Given the description of an element on the screen output the (x, y) to click on. 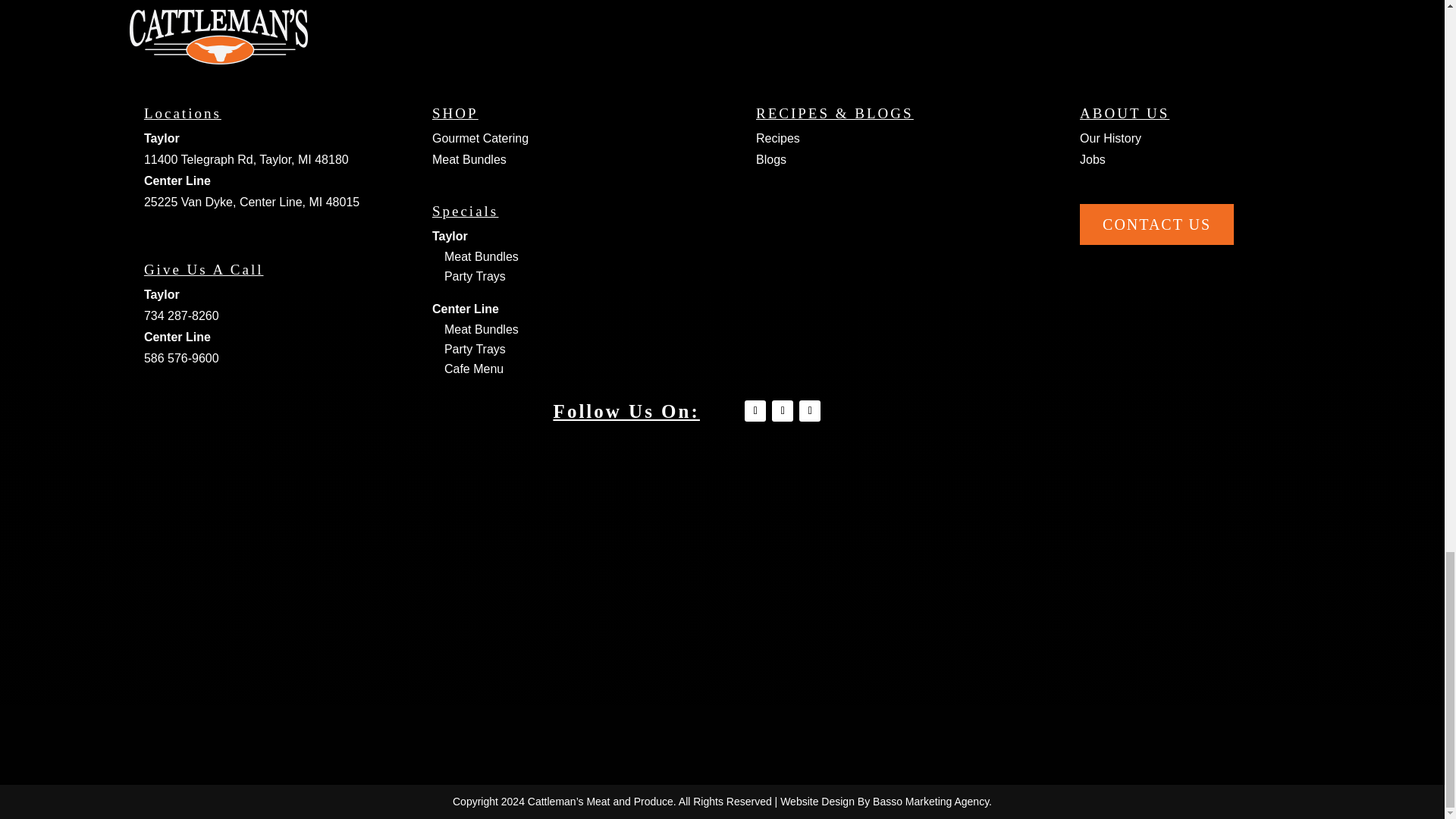
Follow on Youtube (810, 410)
logo (218, 36)
Follow on Facebook (754, 410)
11400 Telegraph Rd, Taylor, MI 48180 (246, 159)
25225 Van Dyke, Center Line, MI 48015 (251, 201)
Follow on LinkedIn (782, 410)
